Given the description of an element on the screen output the (x, y) to click on. 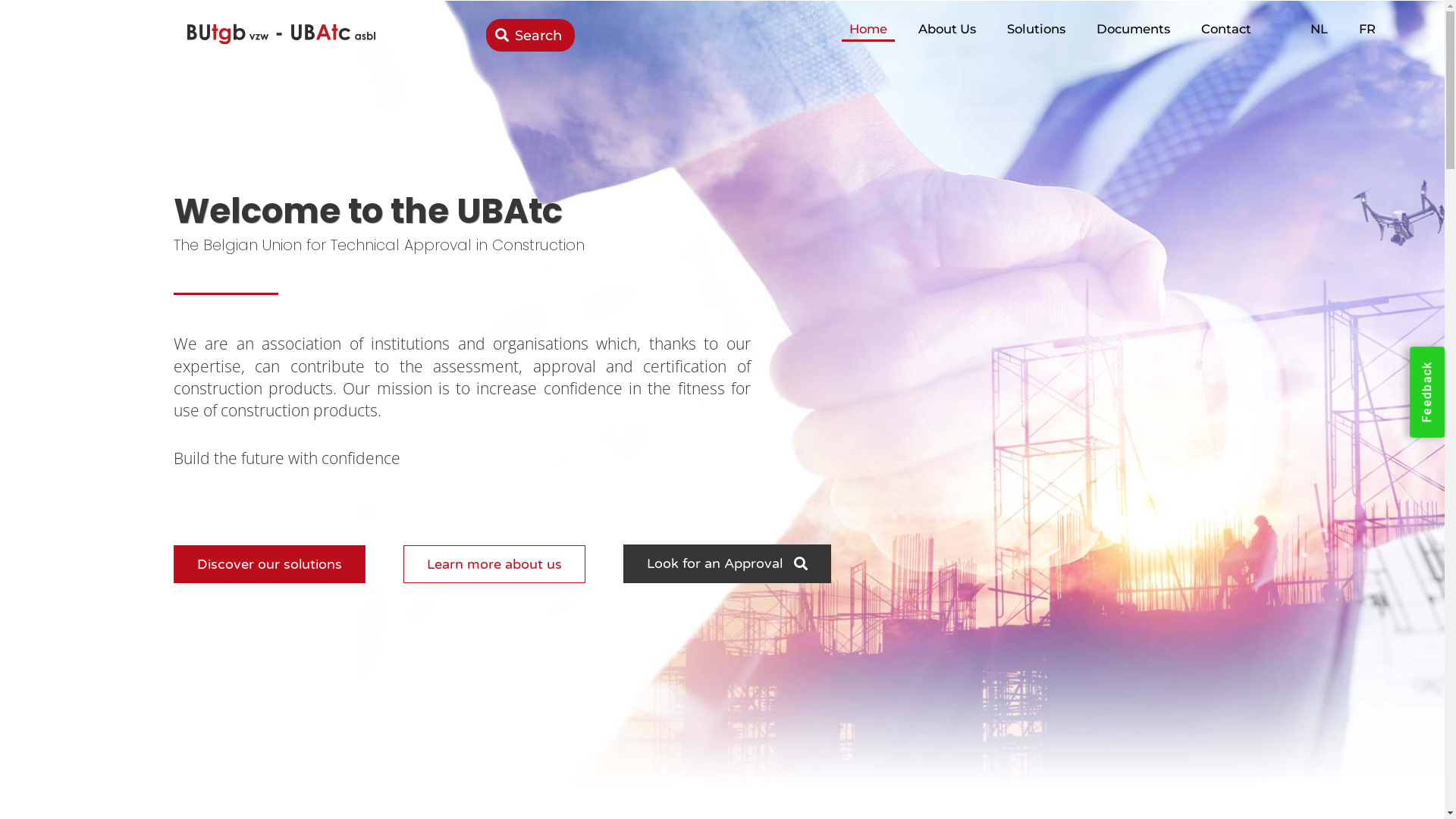
NL Element type: text (1318, 28)
Documents Element type: text (1132, 28)
About Us Element type: text (946, 28)
FR Element type: text (1367, 28)
Home Element type: text (867, 28)
Solutions Element type: text (1036, 28)
Discover our solutions Element type: text (269, 564)
Contact Element type: text (1225, 28)
Learn more about us Element type: text (494, 564)
Look for an Approval Element type: text (727, 563)
